Given the description of an element on the screen output the (x, y) to click on. 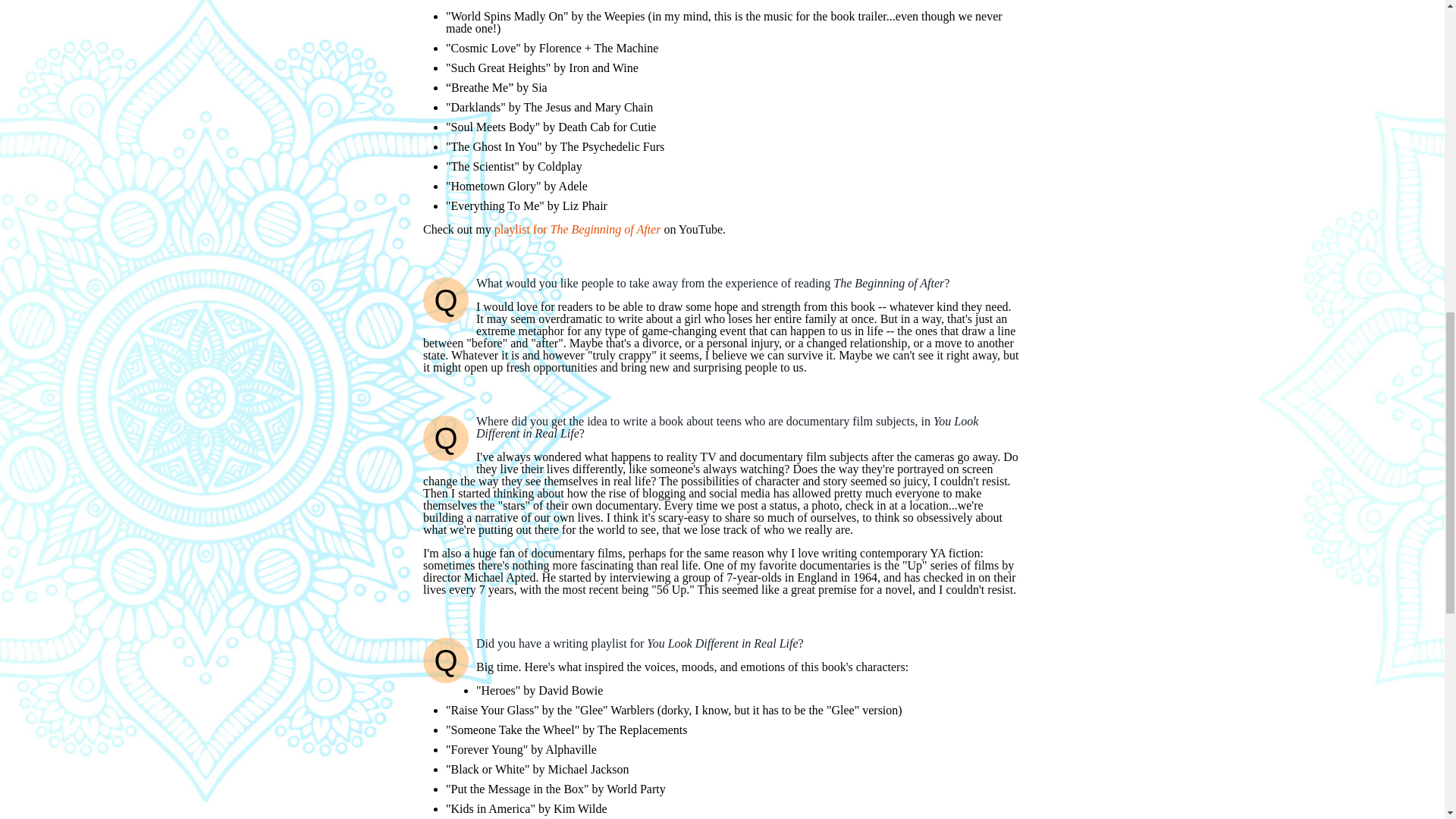
playlist for The Beginning of After (578, 228)
